Given the description of an element on the screen output the (x, y) to click on. 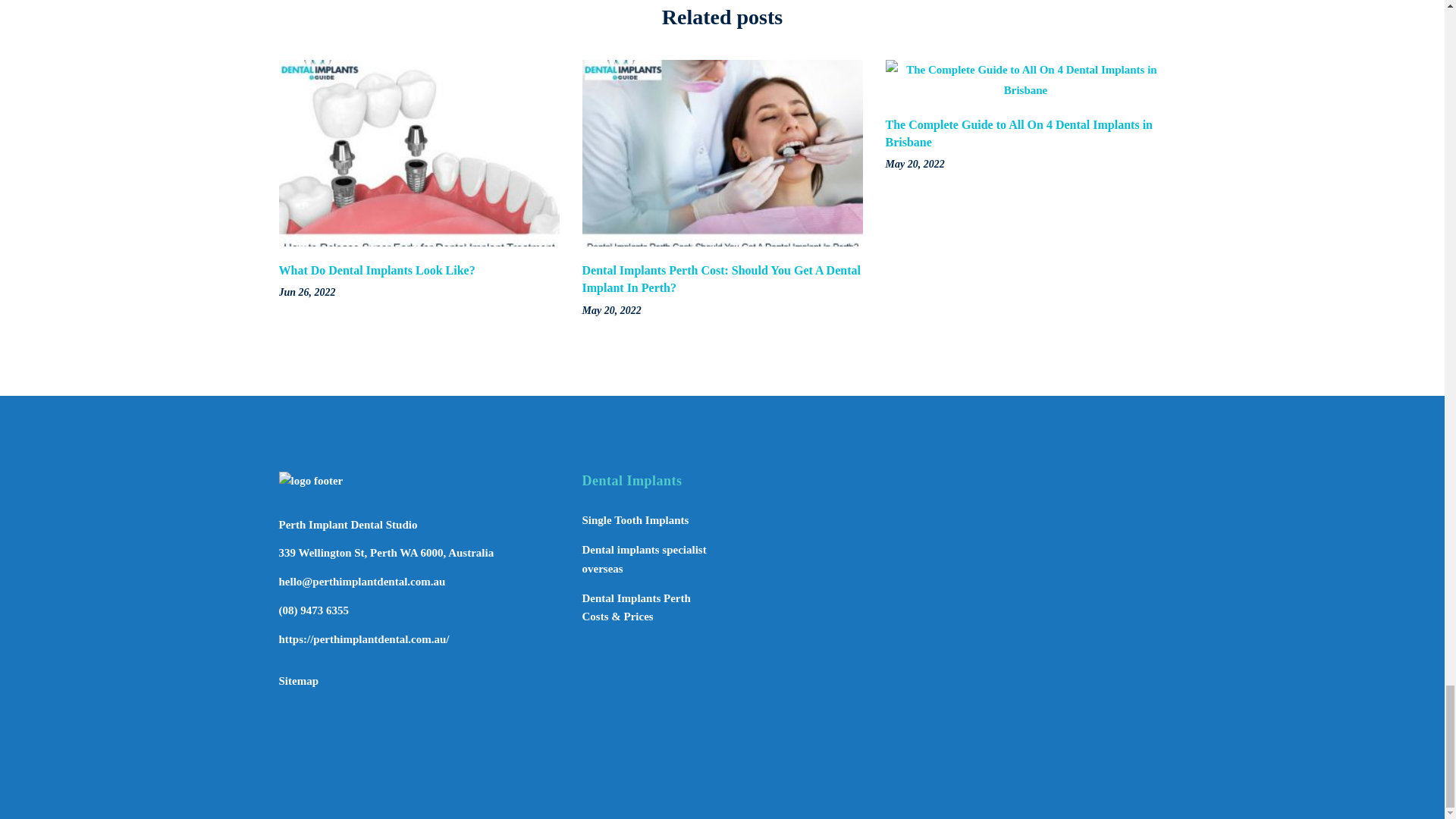
What Do Dental Implants Look Like? (377, 269)
